Given the description of an element on the screen output the (x, y) to click on. 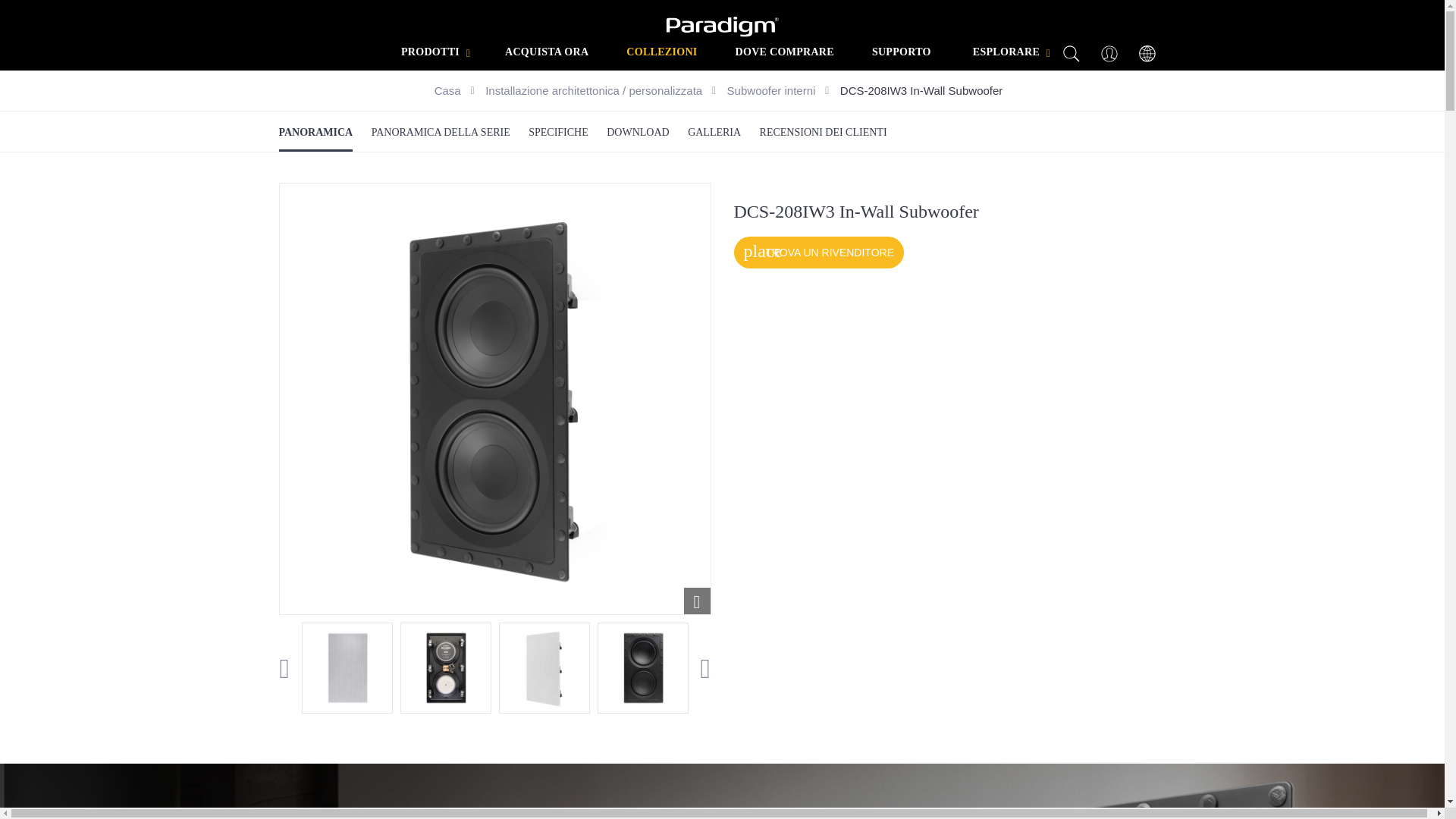
ACQUISTA ORA (546, 51)
WHERE TO BUY (784, 51)
DOVE COMPRARE (784, 51)
EXPLORE (1007, 51)
COLLECTIONS (661, 51)
SUPPORT (494, 673)
COLLEZIONI (901, 51)
PRODOTTI (661, 51)
ESPLORARE (432, 51)
